Given the description of an element on the screen output the (x, y) to click on. 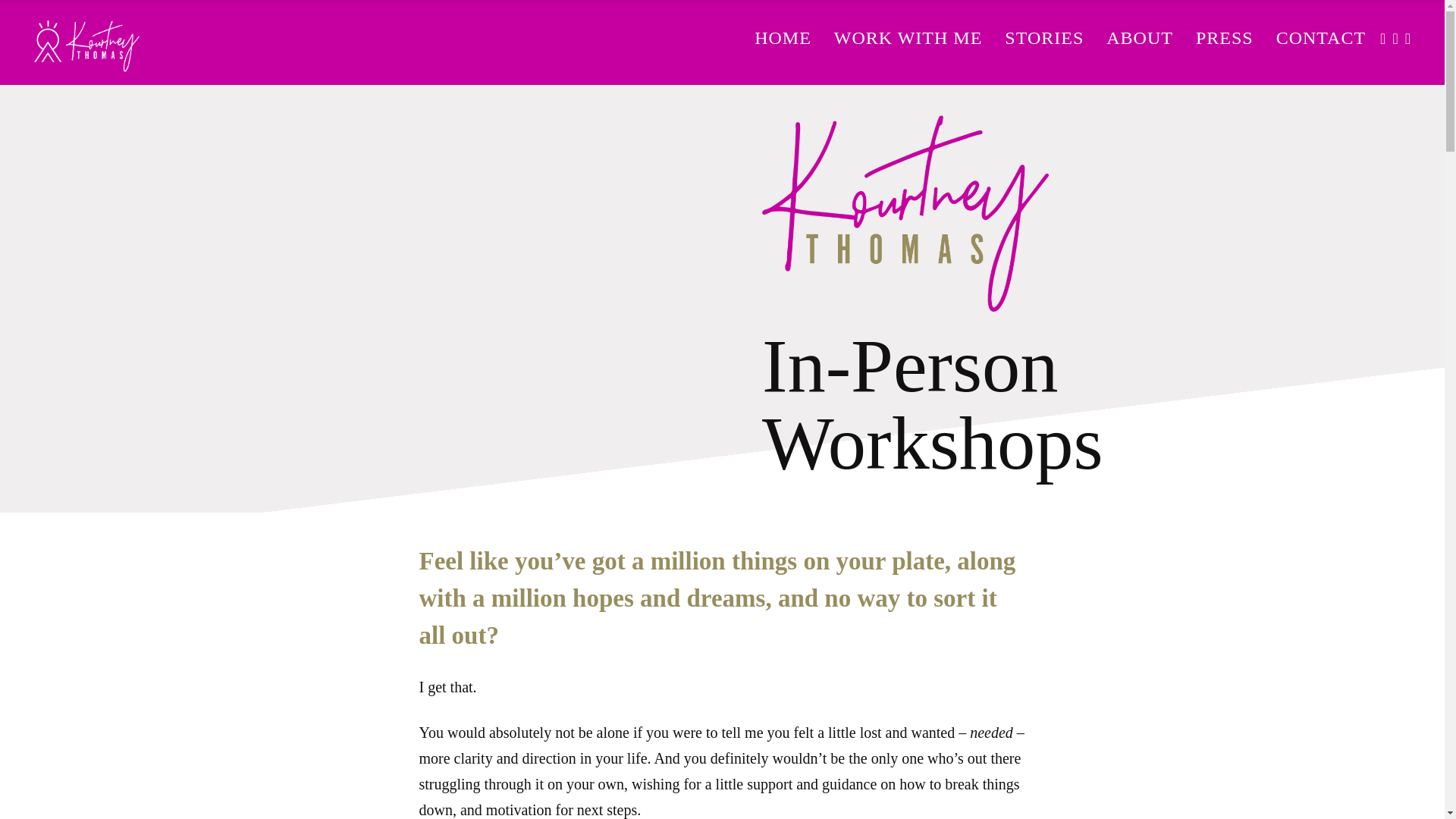
HOME (783, 38)
WORK WITH ME (908, 38)
ABOUT (1139, 38)
PRESS (1224, 38)
CONTACT (1321, 38)
STORIES (1044, 38)
